Given the description of an element on the screen output the (x, y) to click on. 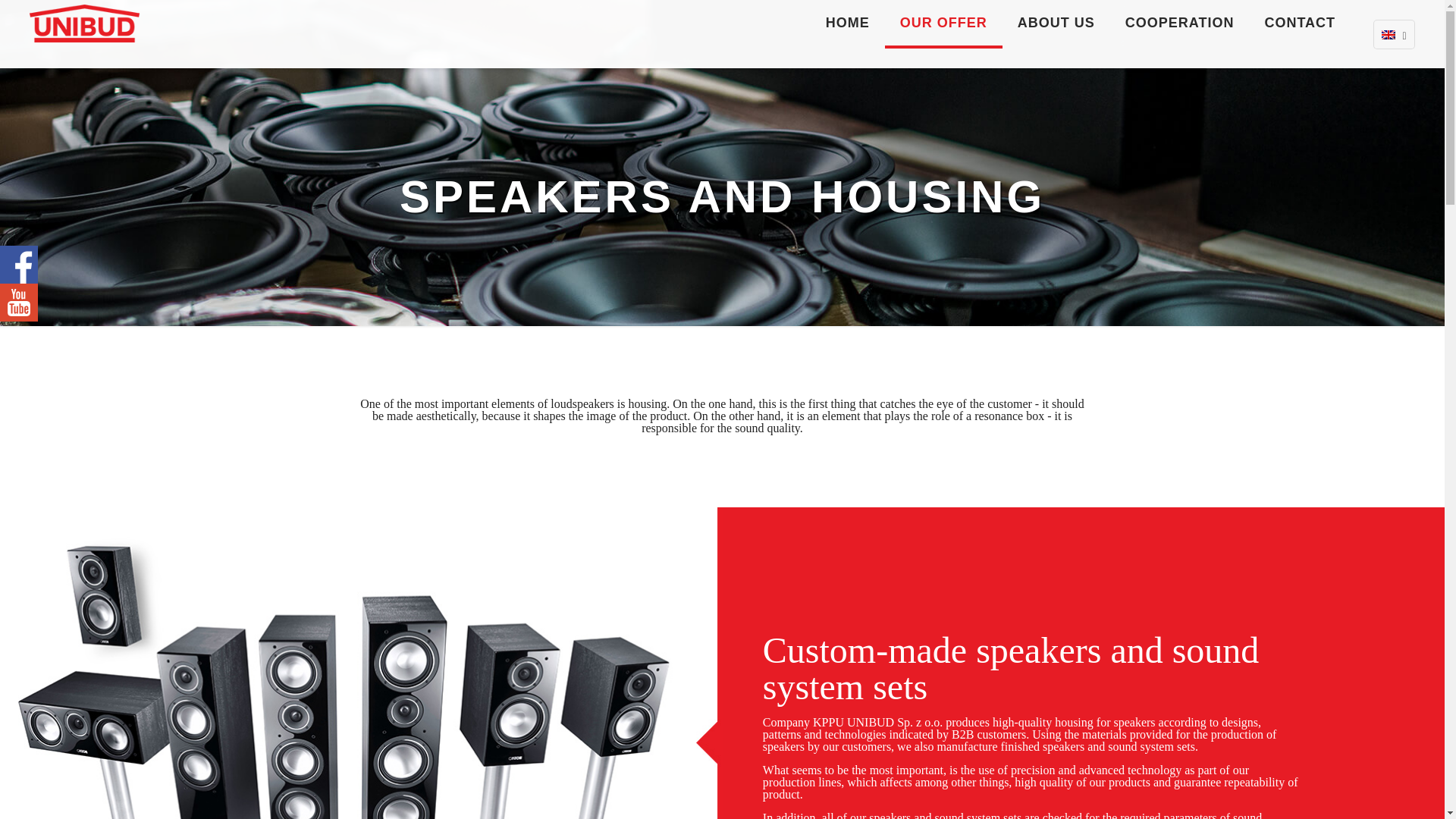
Youtube (18, 302)
COOPERATION (1179, 22)
UNIBUD (84, 22)
ABOUT US (1056, 22)
Facebook (18, 264)
CONTACT (1300, 22)
HOME (847, 22)
OUR OFFER (944, 22)
